Given the description of an element on the screen output the (x, y) to click on. 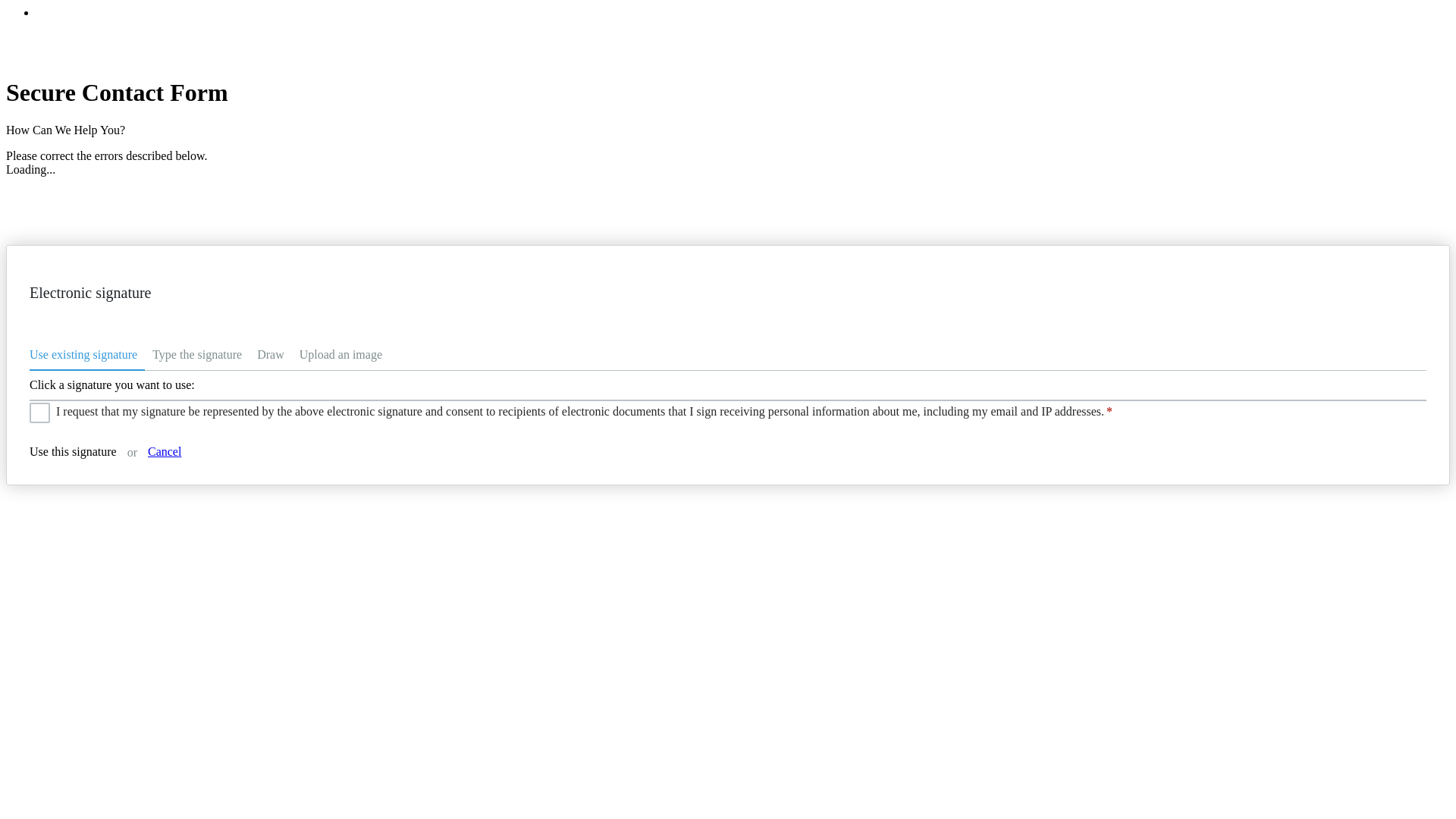
Use existing signature (86, 357)
Type the signature (196, 357)
1 (36, 408)
Upload an image (341, 357)
Use this signature (72, 451)
Draw (270, 357)
Cancel (164, 451)
